Given the description of an element on the screen output the (x, y) to click on. 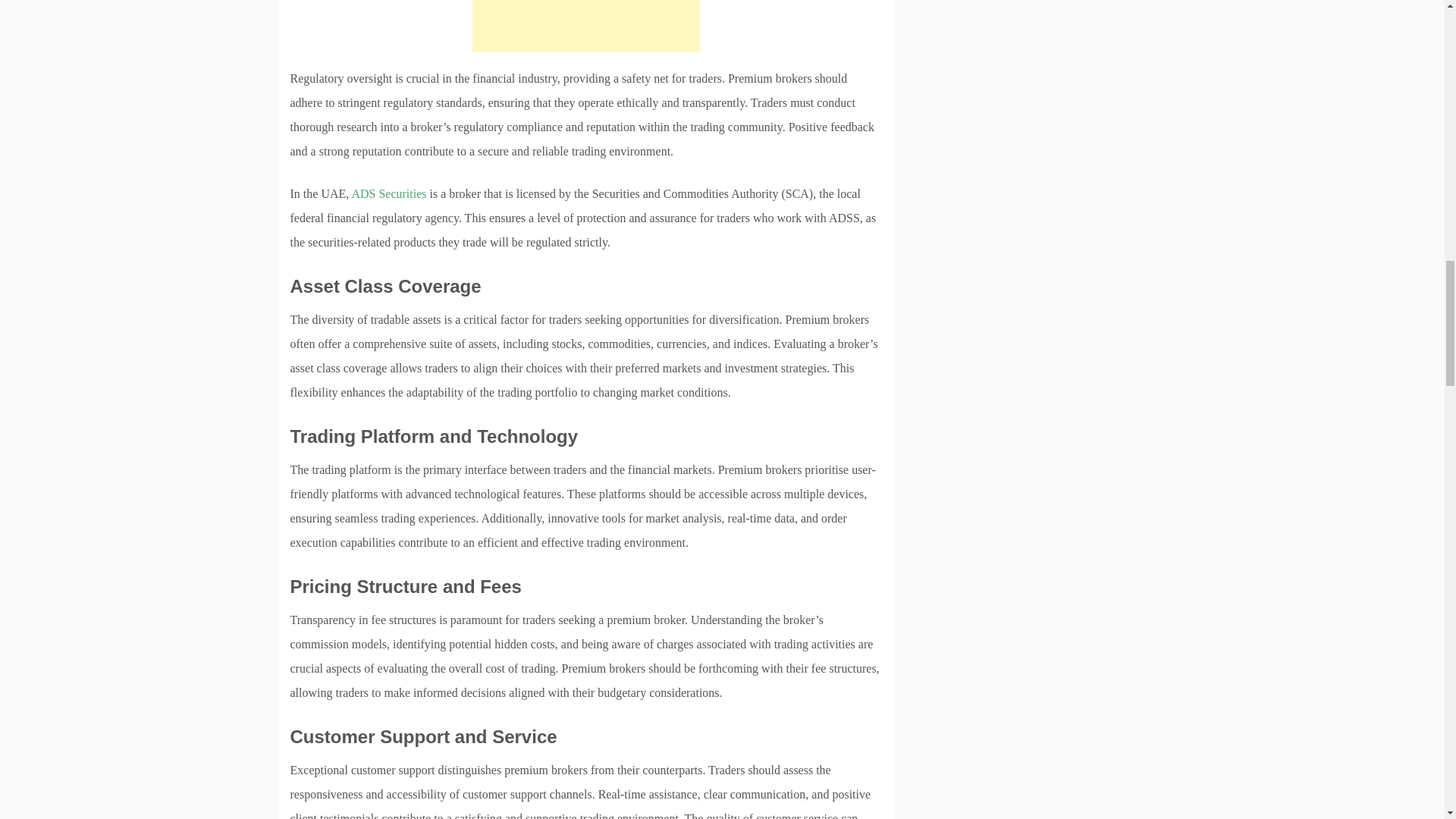
Advertisement (584, 26)
ADS Securities (388, 193)
